Given the description of an element on the screen output the (x, y) to click on. 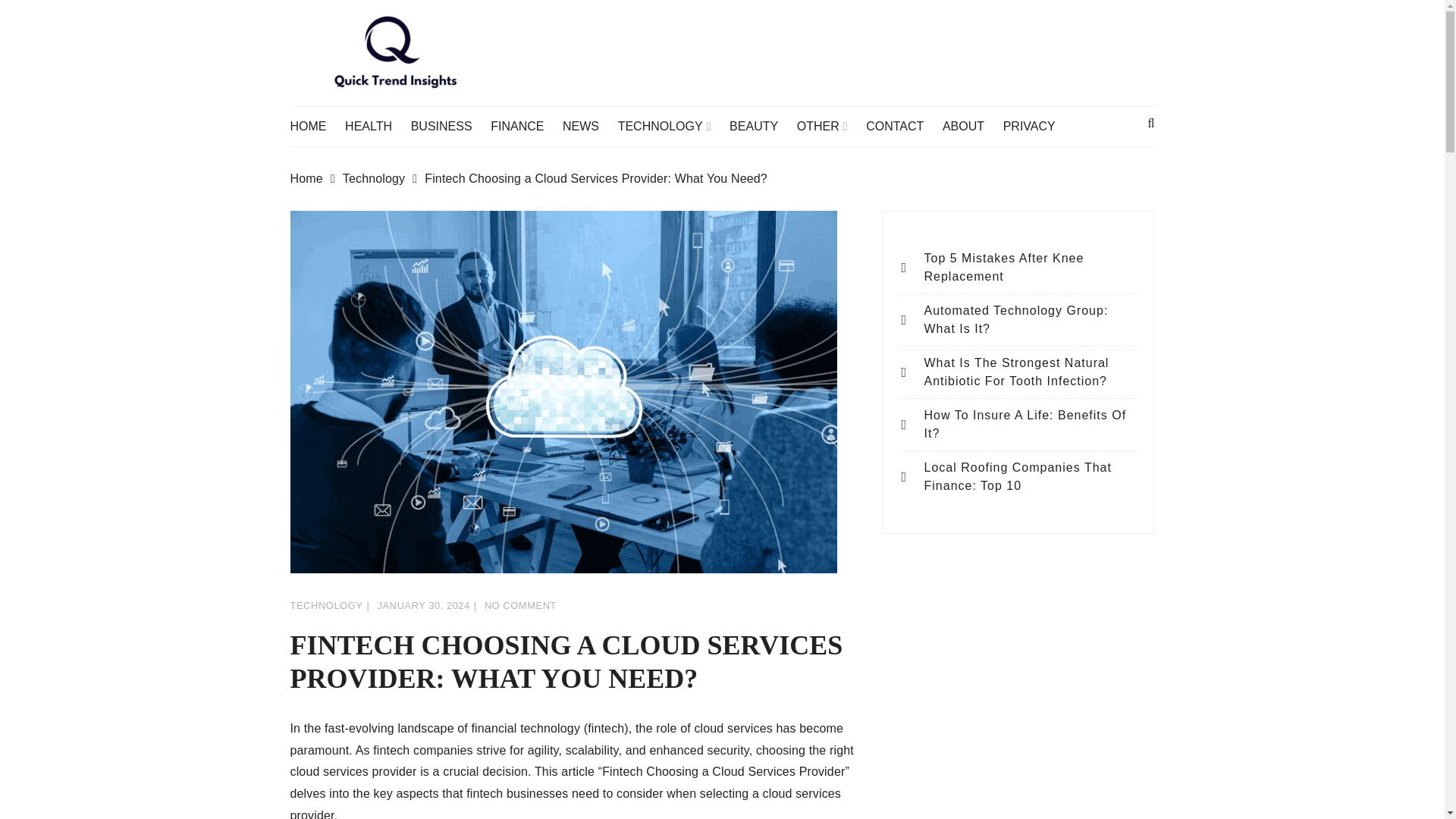
TECHNOLOGY (671, 126)
HOME (314, 126)
ABOUT (970, 126)
HEALTH (376, 126)
CONTACT (902, 126)
BEAUTY (761, 126)
NEWS (588, 126)
BUSINESS (448, 126)
OTHER (829, 126)
Home (315, 178)
JANUARY 30, 2024 (422, 604)
Technology (383, 178)
TECHNOLOGY (325, 604)
PRIVACY (1036, 126)
FINANCE (524, 126)
